Given the description of an element on the screen output the (x, y) to click on. 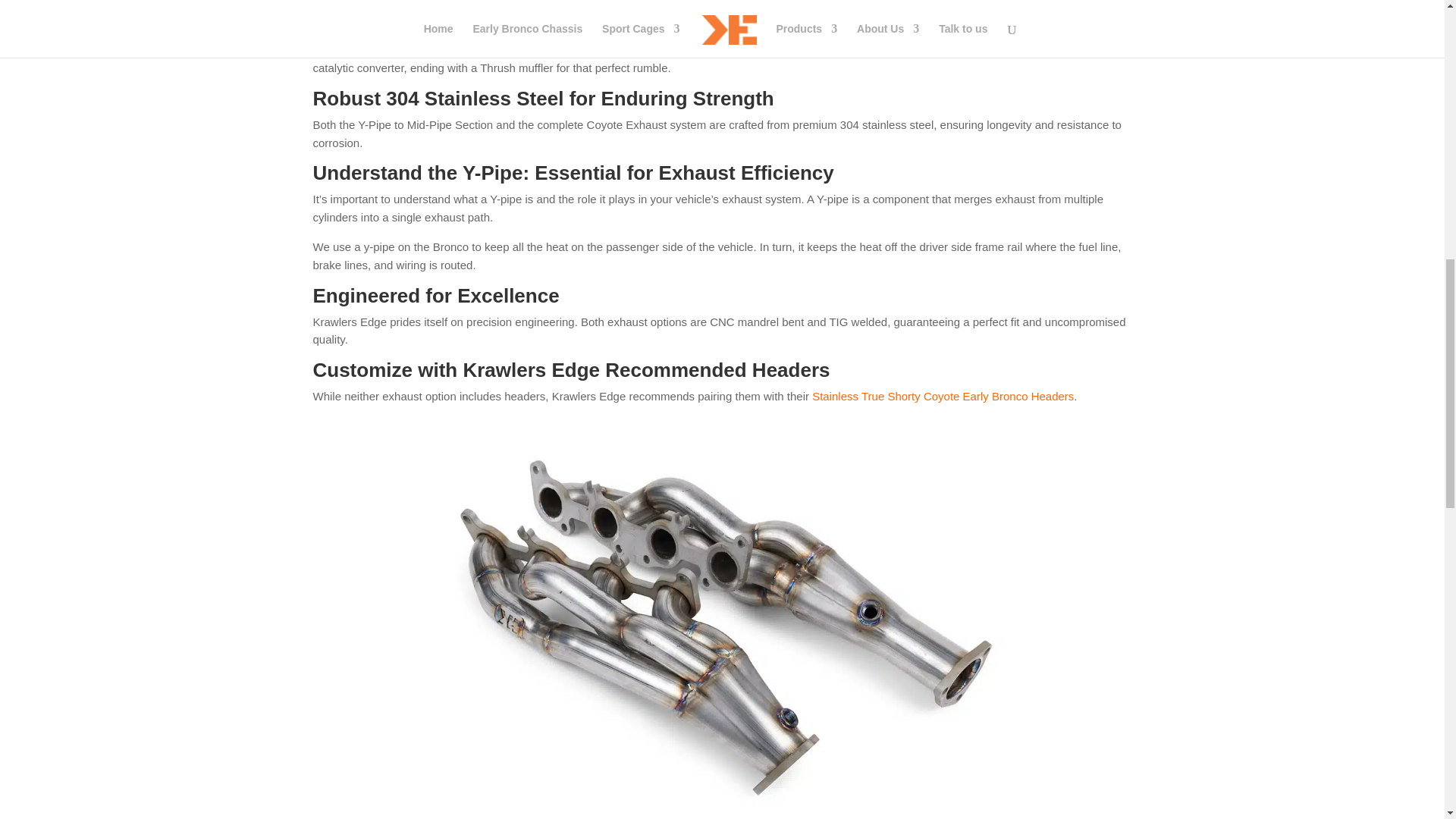
Stainless-Steel-True-Shorty-Coyote-Early-Bronco-Headers (722, 811)
